Given the description of an element on the screen output the (x, y) to click on. 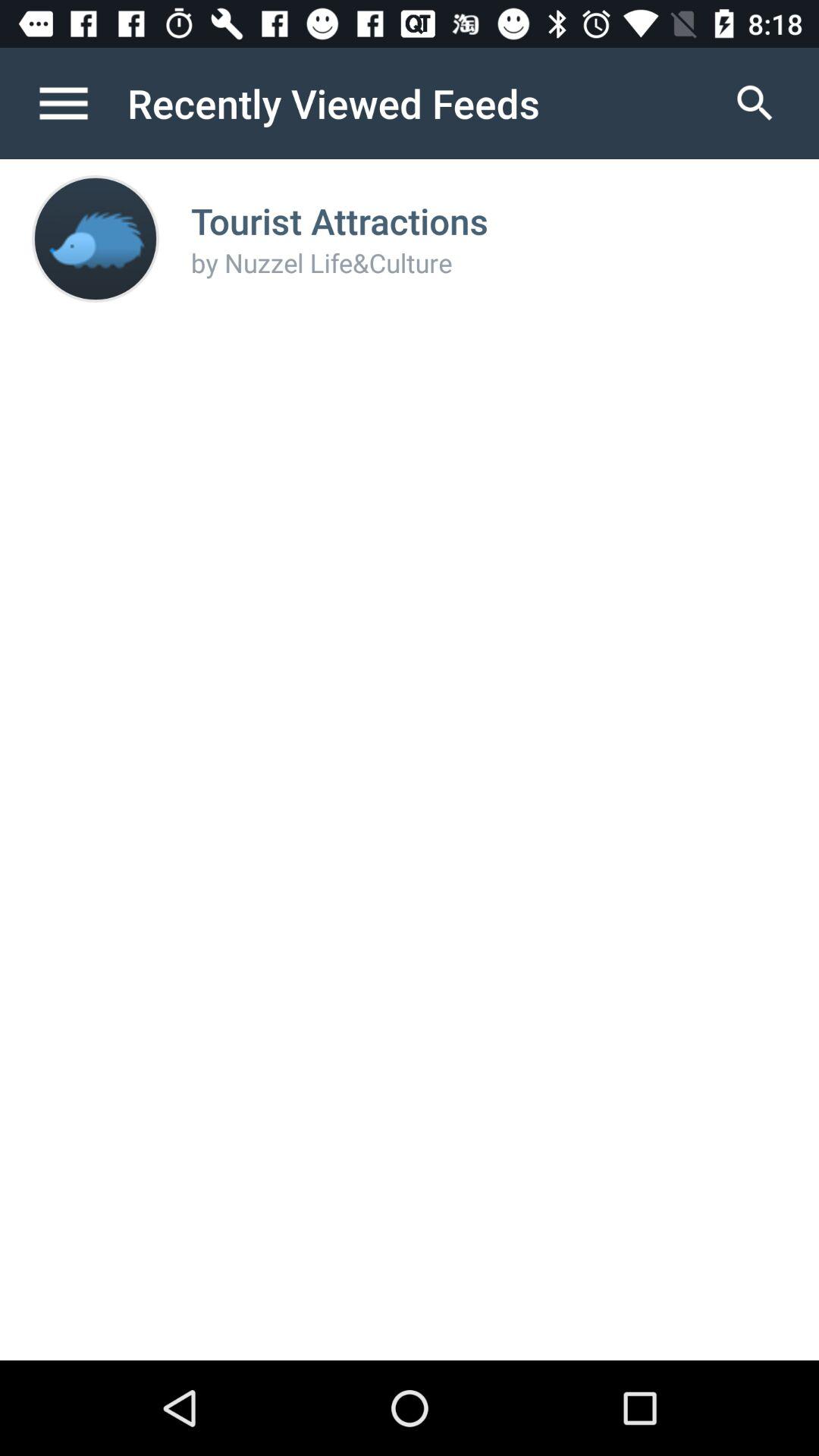
open options (79, 103)
